Given the description of an element on the screen output the (x, y) to click on. 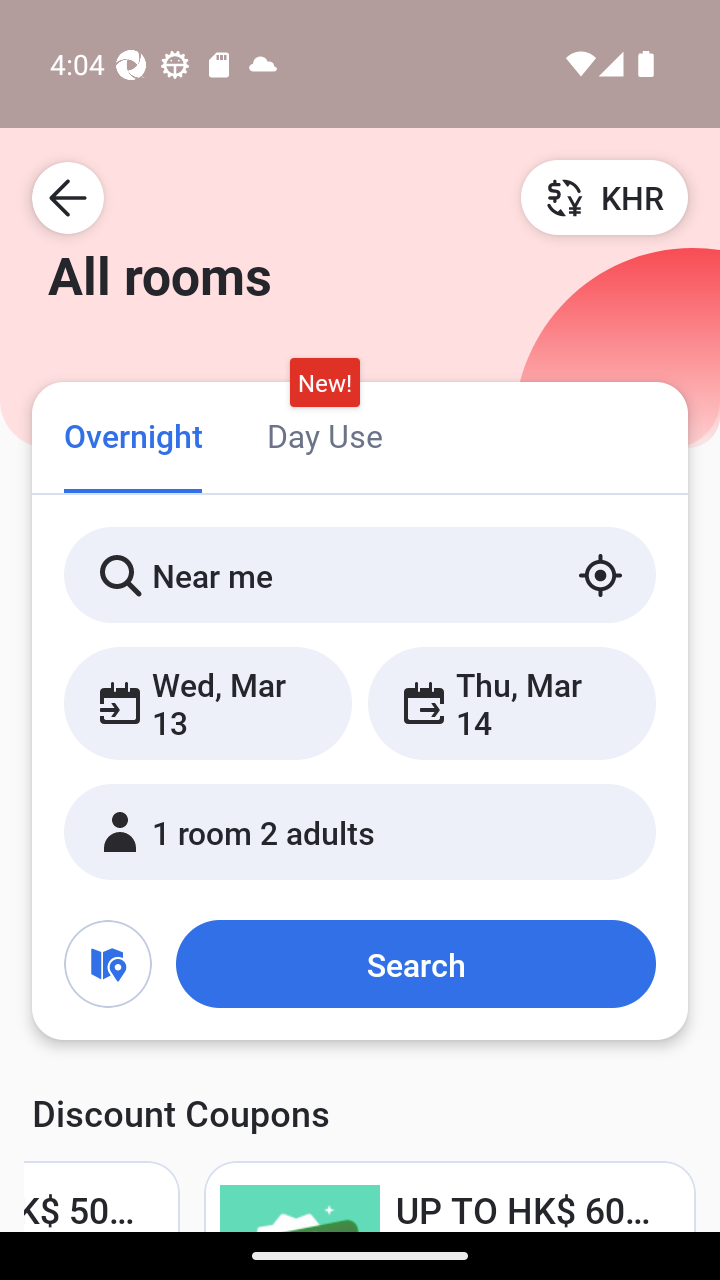
KHR (604, 197)
New! (324, 383)
Day Use (324, 434)
Near me (359, 575)
Wed, Mar 13 (208, 703)
Thu, Mar 14 (511, 703)
1 room 2 adults (359, 831)
Search (415, 964)
